Given the description of an element on the screen output the (x, y) to click on. 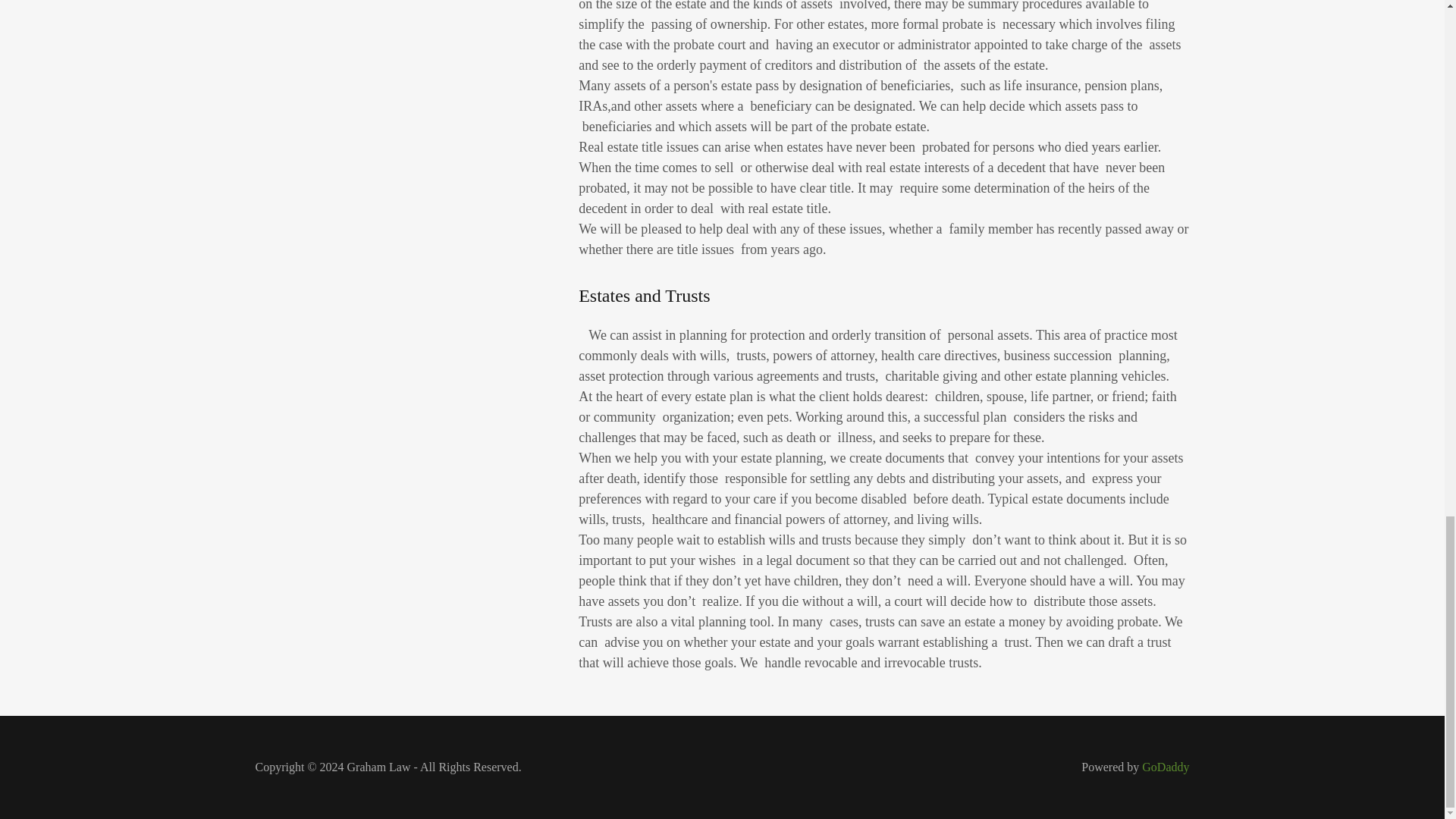
GoDaddy (1165, 766)
